Given the description of an element on the screen output the (x, y) to click on. 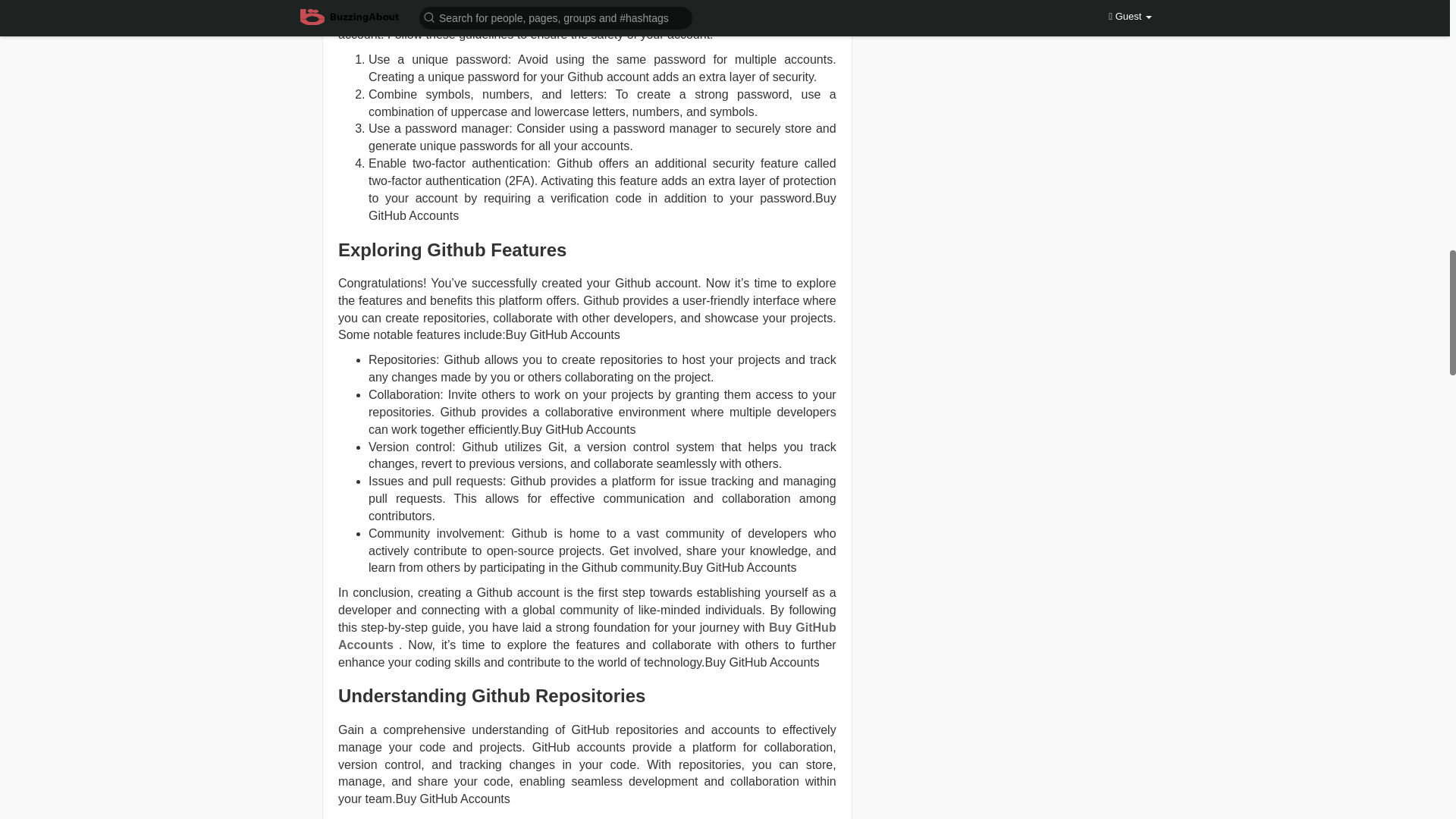
Buy GitHub Accounts (586, 635)
